Given the description of an element on the screen output the (x, y) to click on. 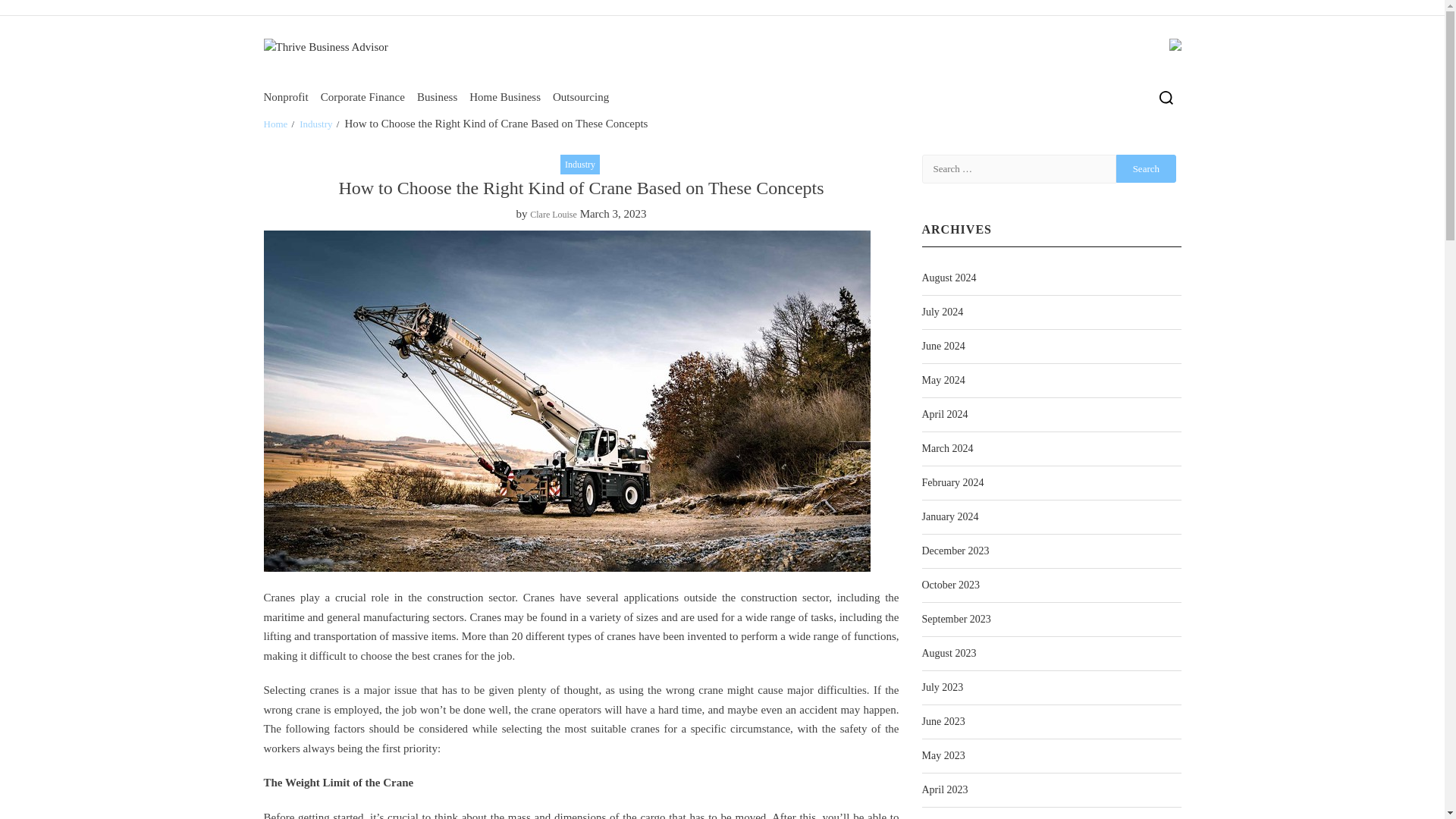
Thrive Business Advisor (319, 108)
Nonprofit (285, 96)
Outsourcing (580, 96)
Home Business (504, 96)
February 2024 (952, 482)
Corporate Finance (362, 96)
Search (1146, 168)
Clare Louise (552, 214)
Search (1139, 147)
Industry (579, 164)
